Given the description of an element on the screen output the (x, y) to click on. 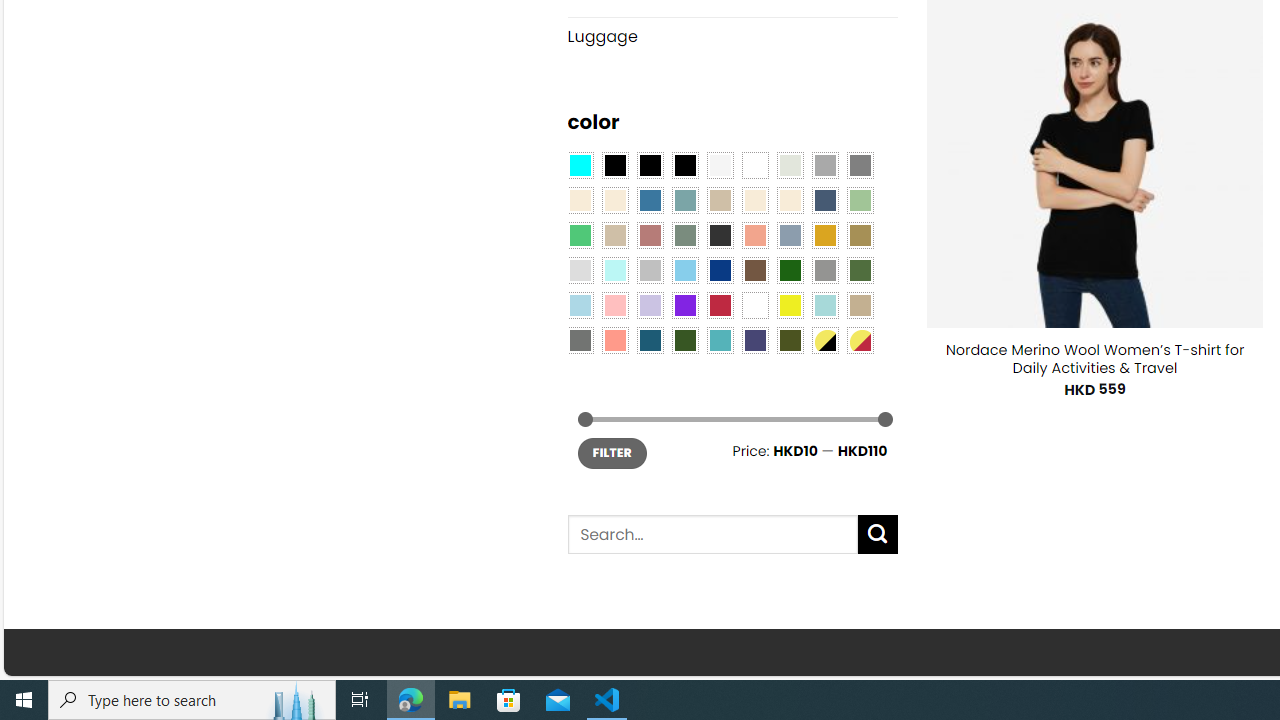
White (755, 305)
Navy Blue (719, 269)
Purple Navy (755, 339)
Yellow-Red (859, 339)
Caramel (755, 200)
Green (859, 269)
Brownie (719, 200)
Light Gray (579, 269)
Light Purple (650, 305)
Pearly White (719, 164)
Dusty Blue (789, 234)
Red (719, 305)
Sage (684, 234)
Kelp (859, 234)
